Given the description of an element on the screen output the (x, y) to click on. 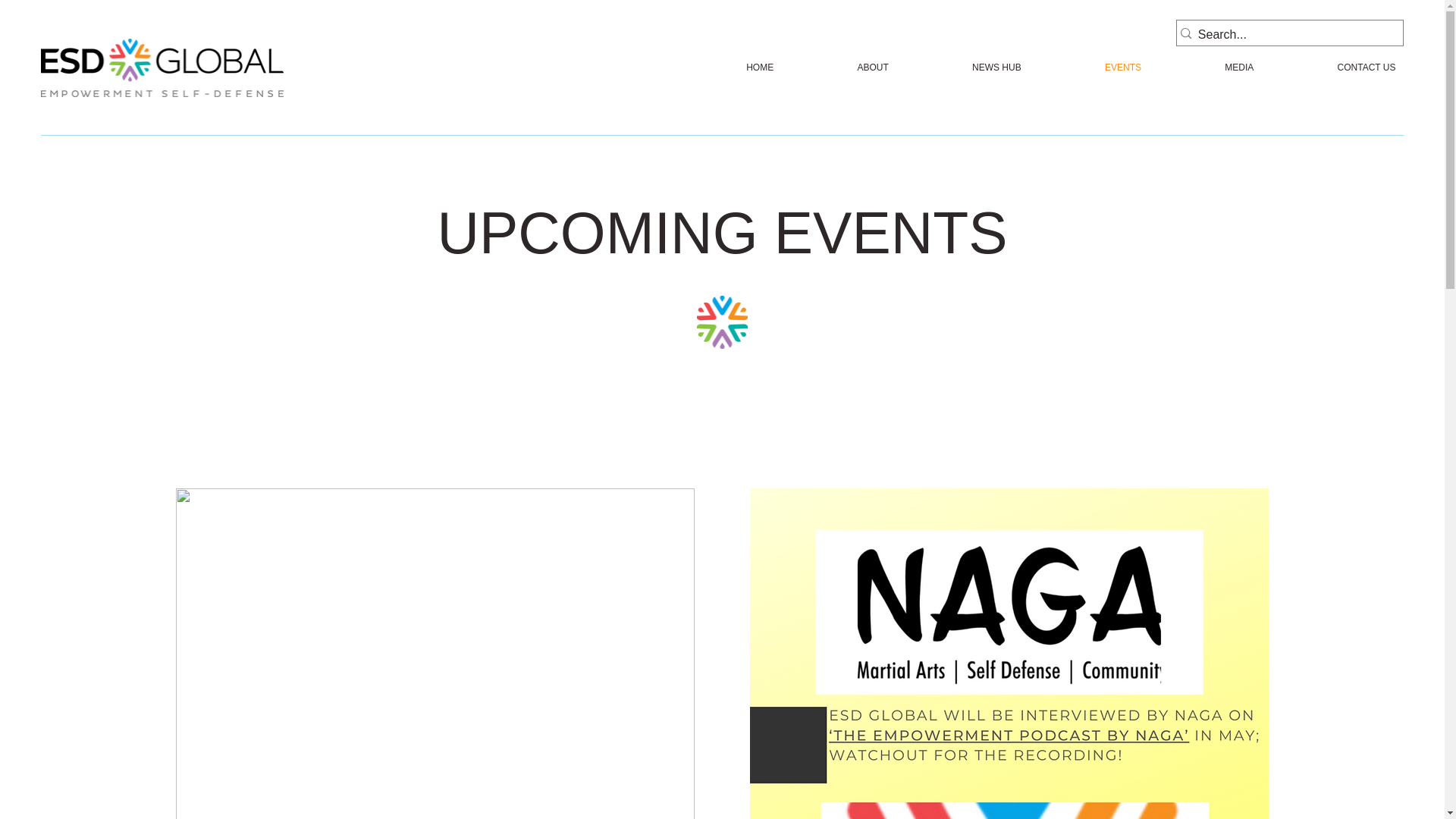
NEWS HUB (1041, 67)
HOME (965, 67)
CONTACT US (729, 67)
EVENTS (1335, 67)
